Given the description of an element on the screen output the (x, y) to click on. 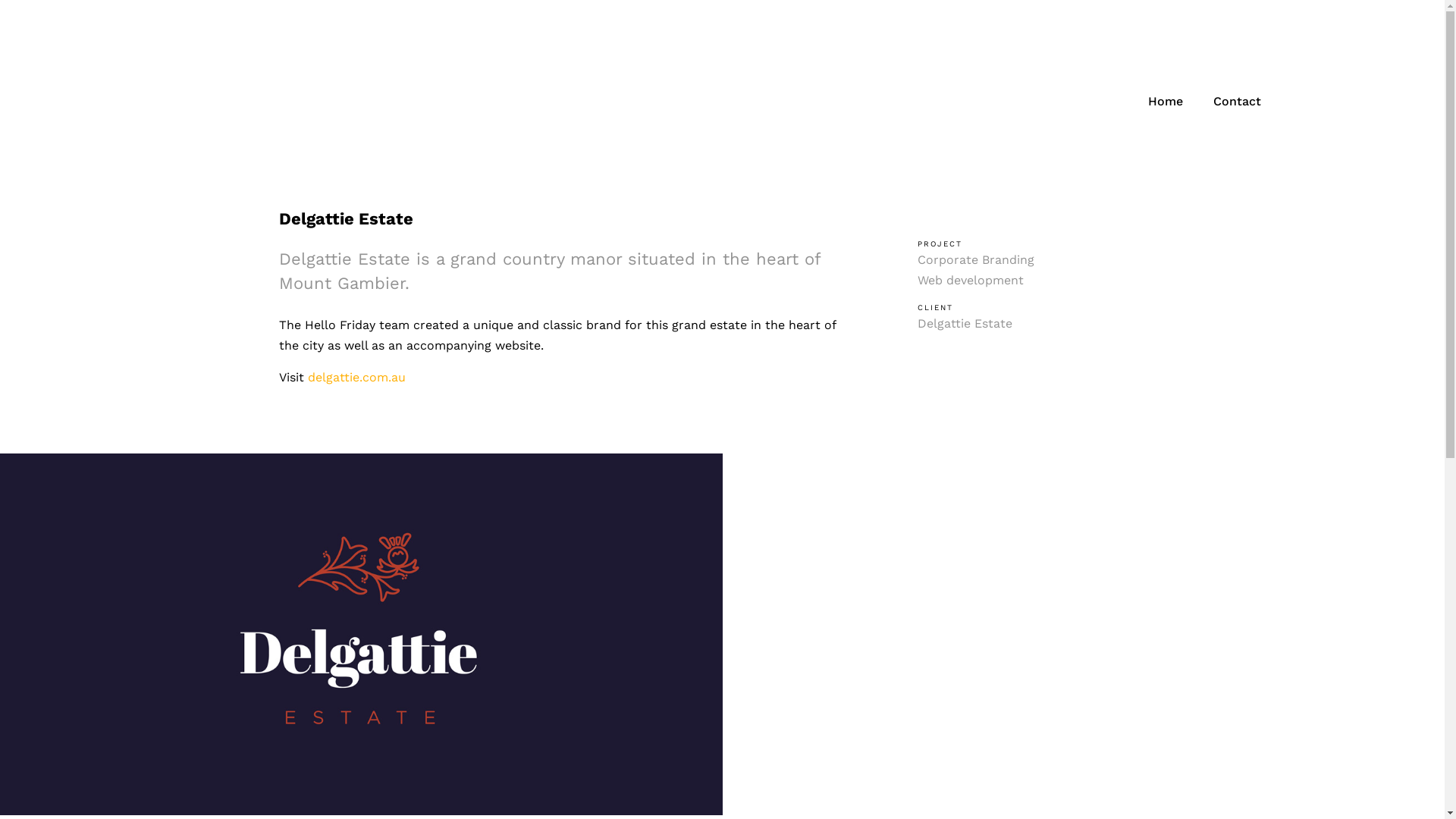
delgattie.com.au Element type: text (356, 377)
Home Element type: text (1164, 101)
Contact Element type: text (1236, 101)
